Given the description of an element on the screen output the (x, y) to click on. 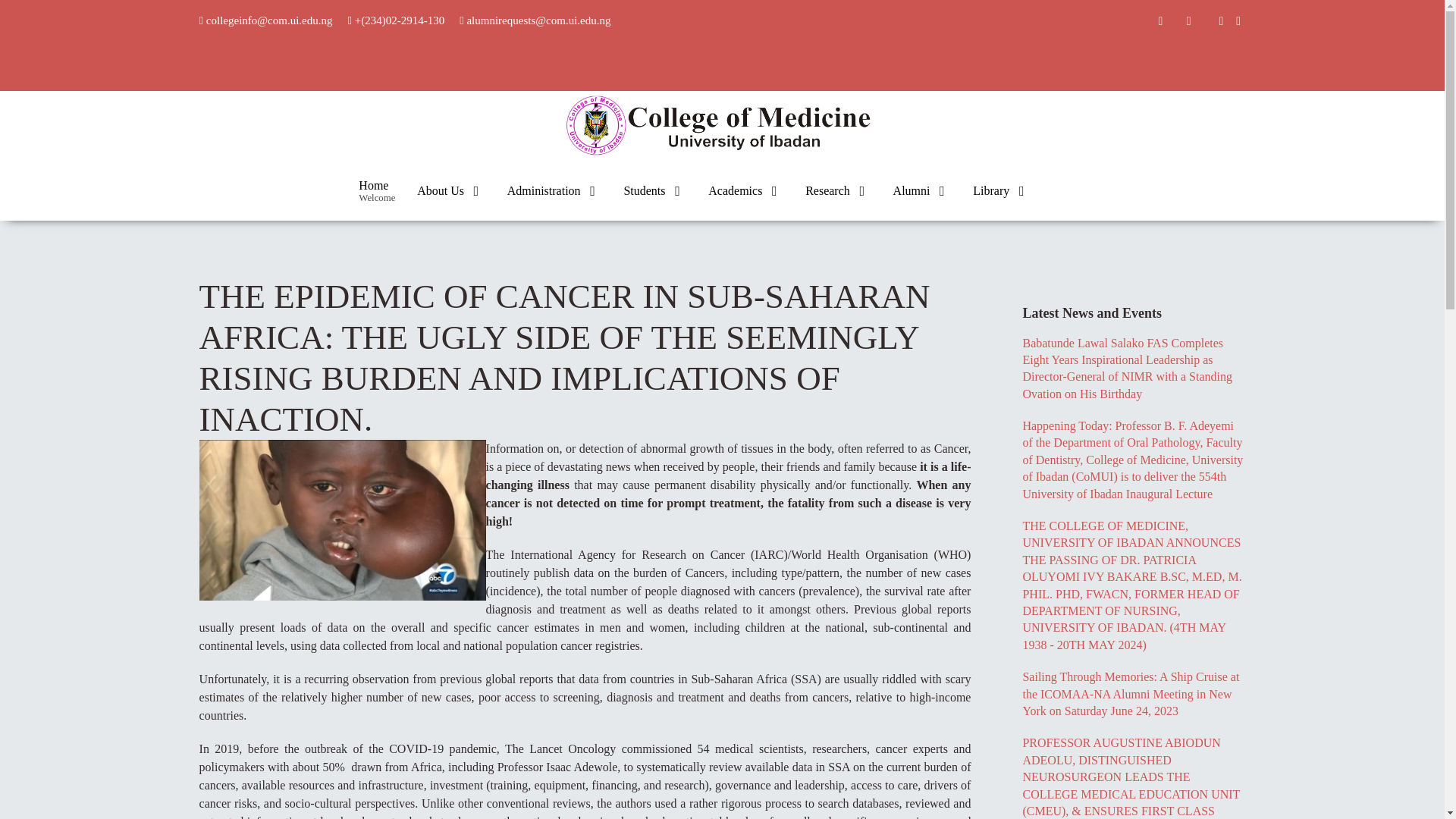
Education (376, 189)
instagram (721, 123)
youtube (1238, 20)
